Given the description of an element on the screen output the (x, y) to click on. 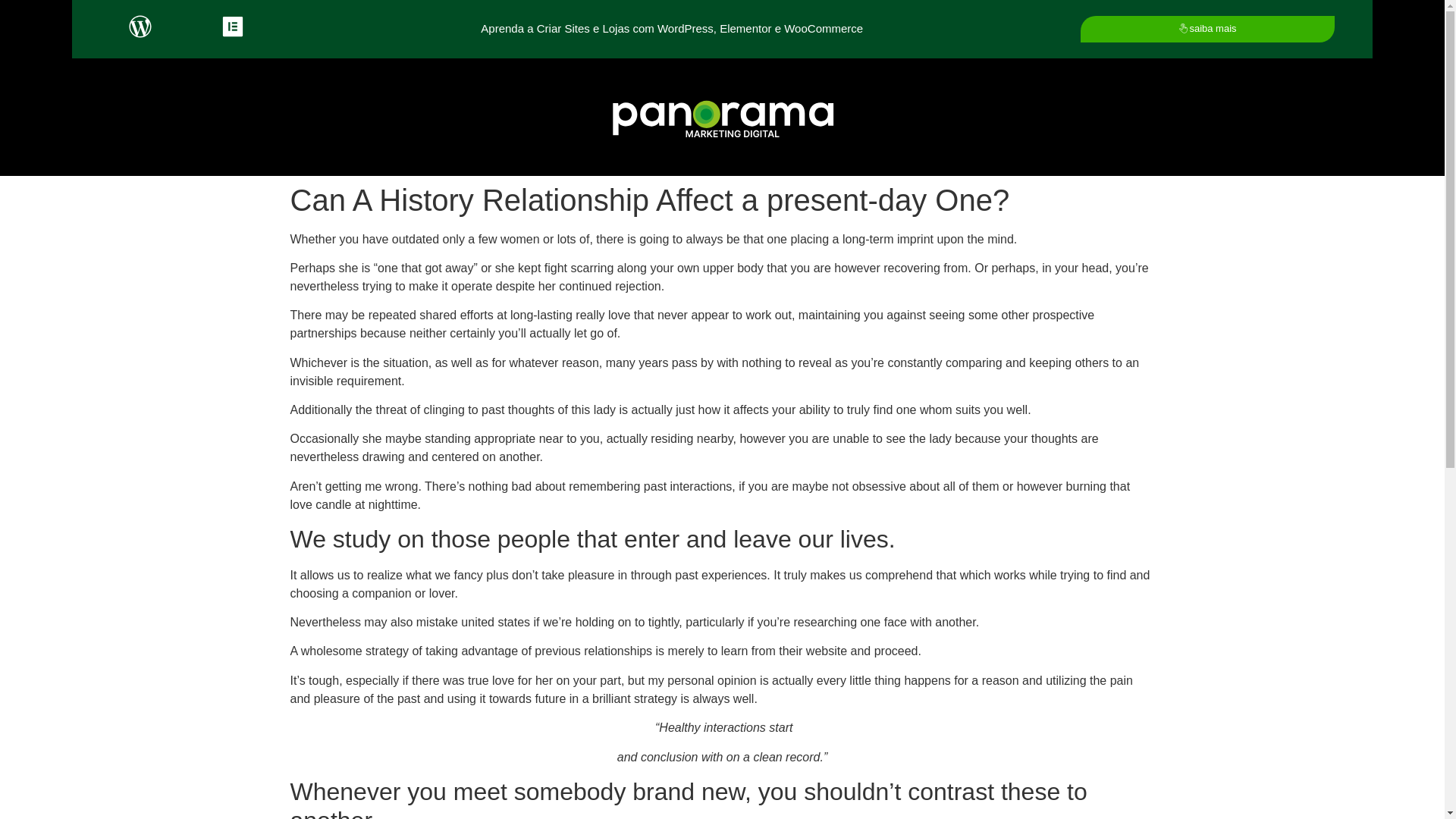
saiba mais (1207, 28)
